Given the description of an element on the screen output the (x, y) to click on. 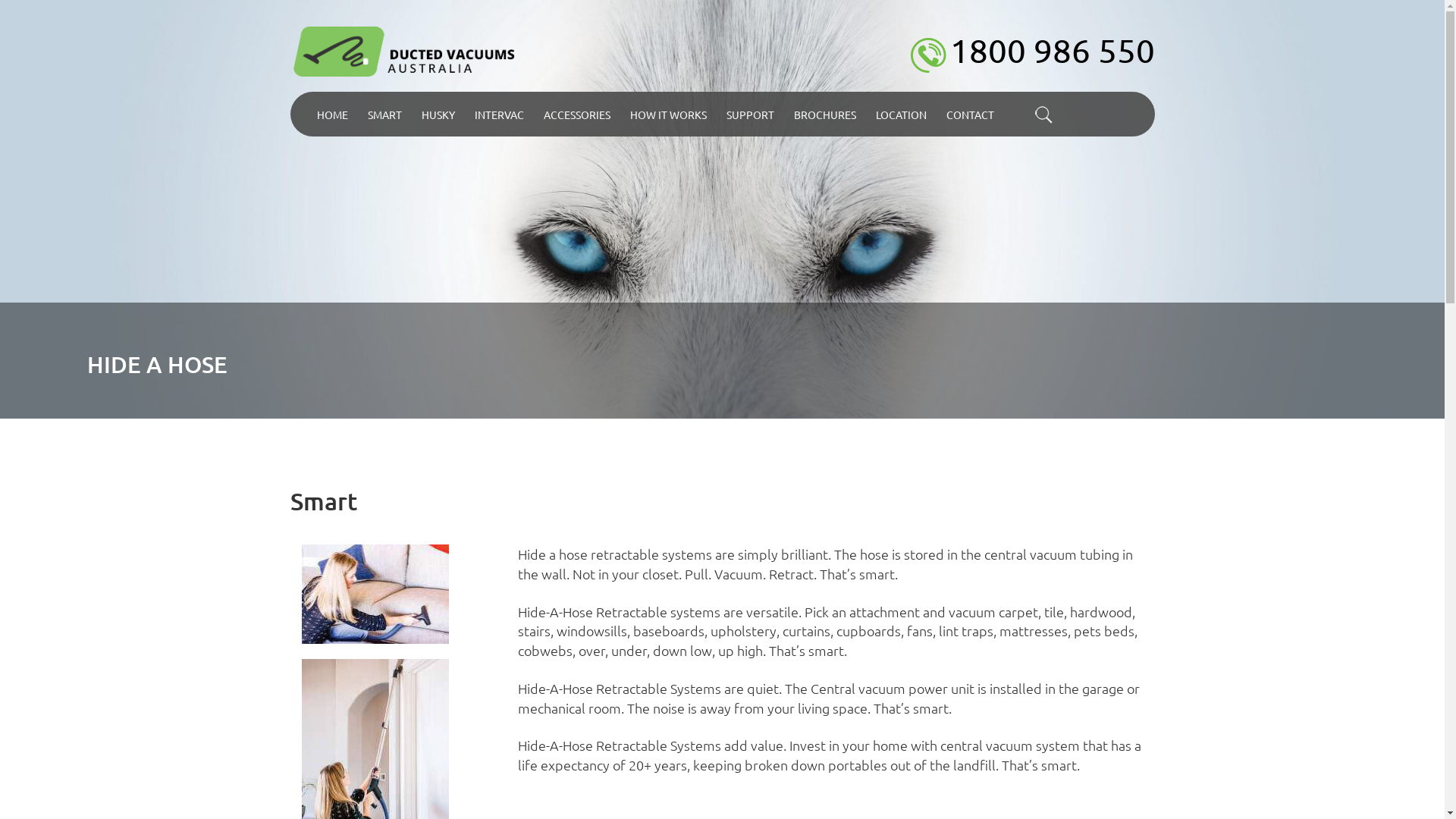
SMART Element type: text (384, 113)
HOW IT WORKS Element type: text (668, 113)
BROCHURES Element type: text (825, 113)
HOME Element type: text (331, 113)
LOCATION Element type: text (901, 113)
SUPPORT Element type: text (749, 113)
INTERVAC Element type: text (498, 113)
ACCESSORIES Element type: text (576, 113)
1800 986 550 Element type: text (1029, 49)
CONTACT Element type: text (969, 113)
HUSKY Element type: text (437, 113)
